Given the description of an element on the screen output the (x, y) to click on. 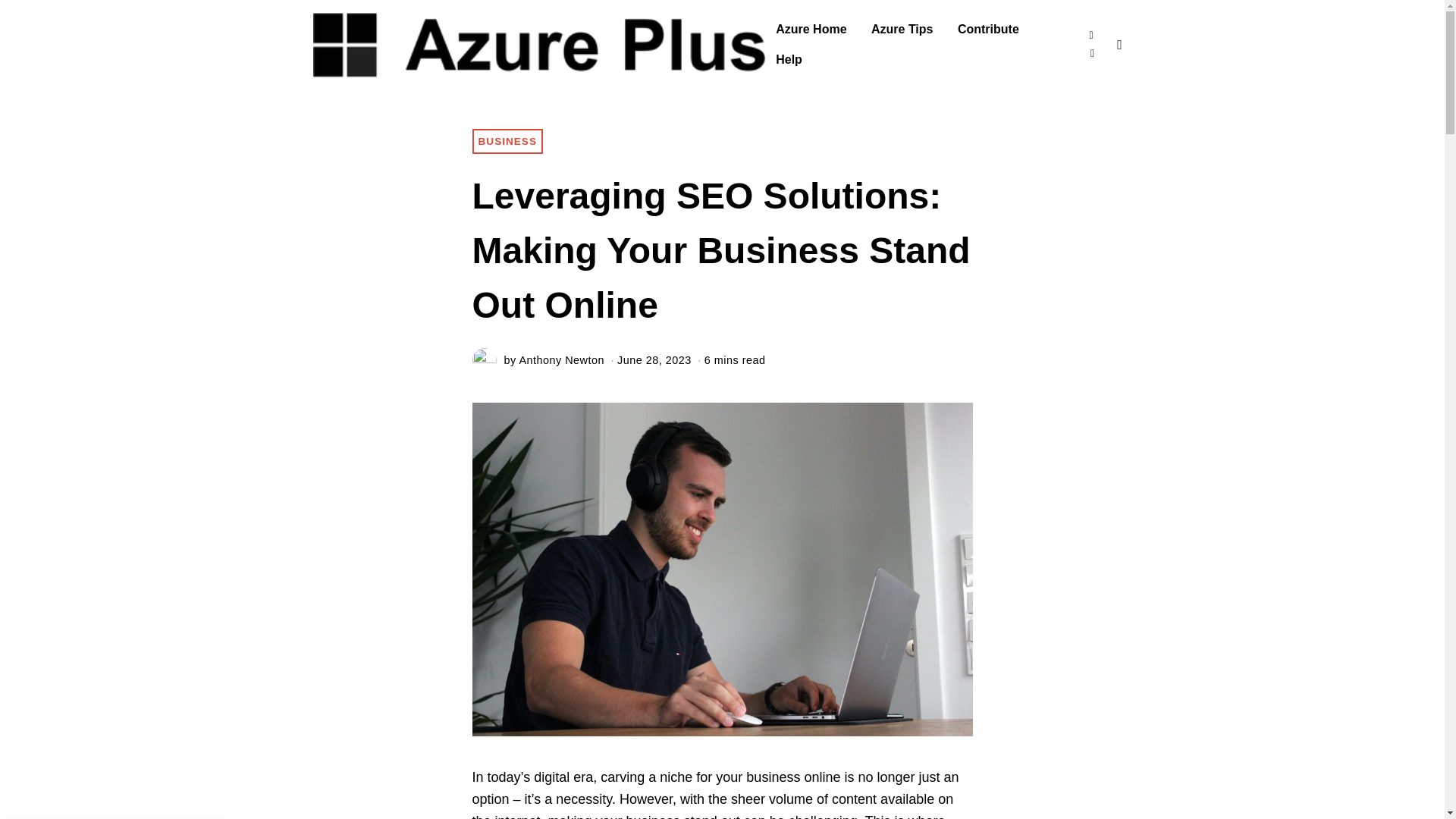
BUSINESS (507, 141)
Help (788, 60)
Azure Home (811, 29)
Contribute (988, 29)
Anthony Newton (561, 359)
Azure Tips (901, 29)
